Given the description of an element on the screen output the (x, y) to click on. 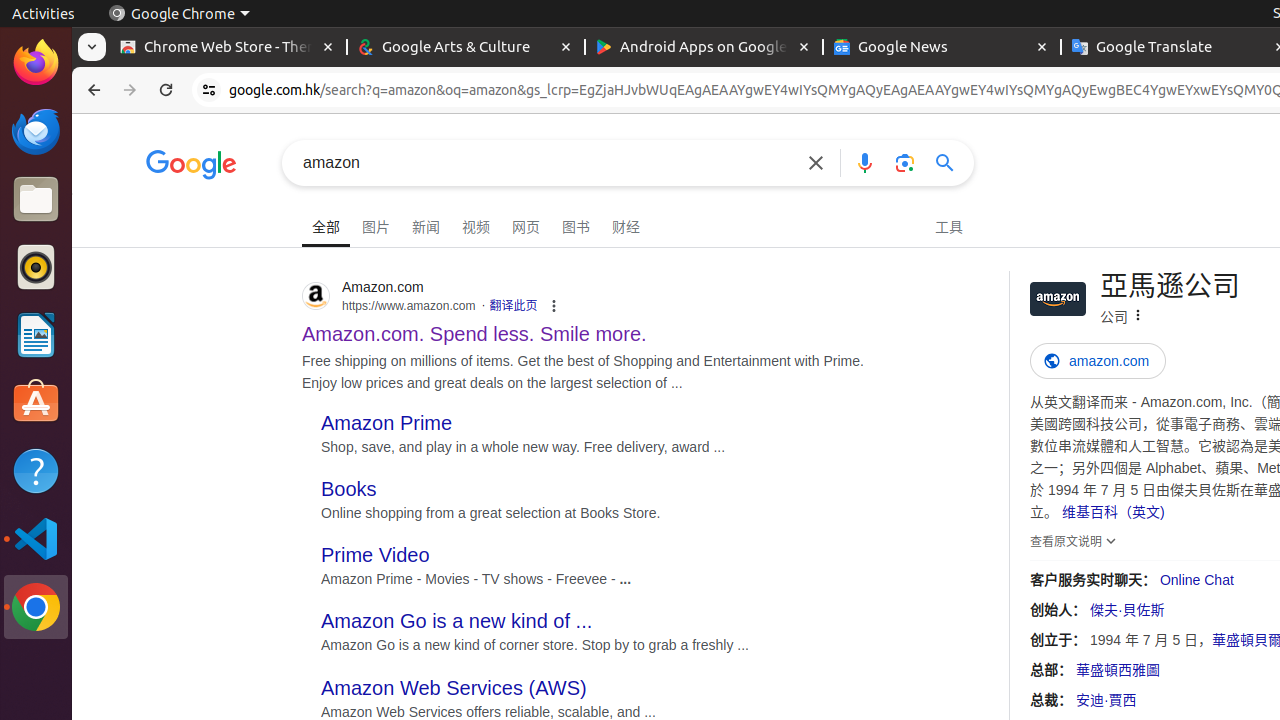
图片 Element type: link (376, 224)
Google Arts & Culture - Memory usage - 57.6 MB Element type: page-tab (466, 47)
Help Element type: push-button (36, 470)
网页 Element type: link (526, 224)
跳到主要内容 Element type: link (138, 194)
